Given the description of an element on the screen output the (x, y) to click on. 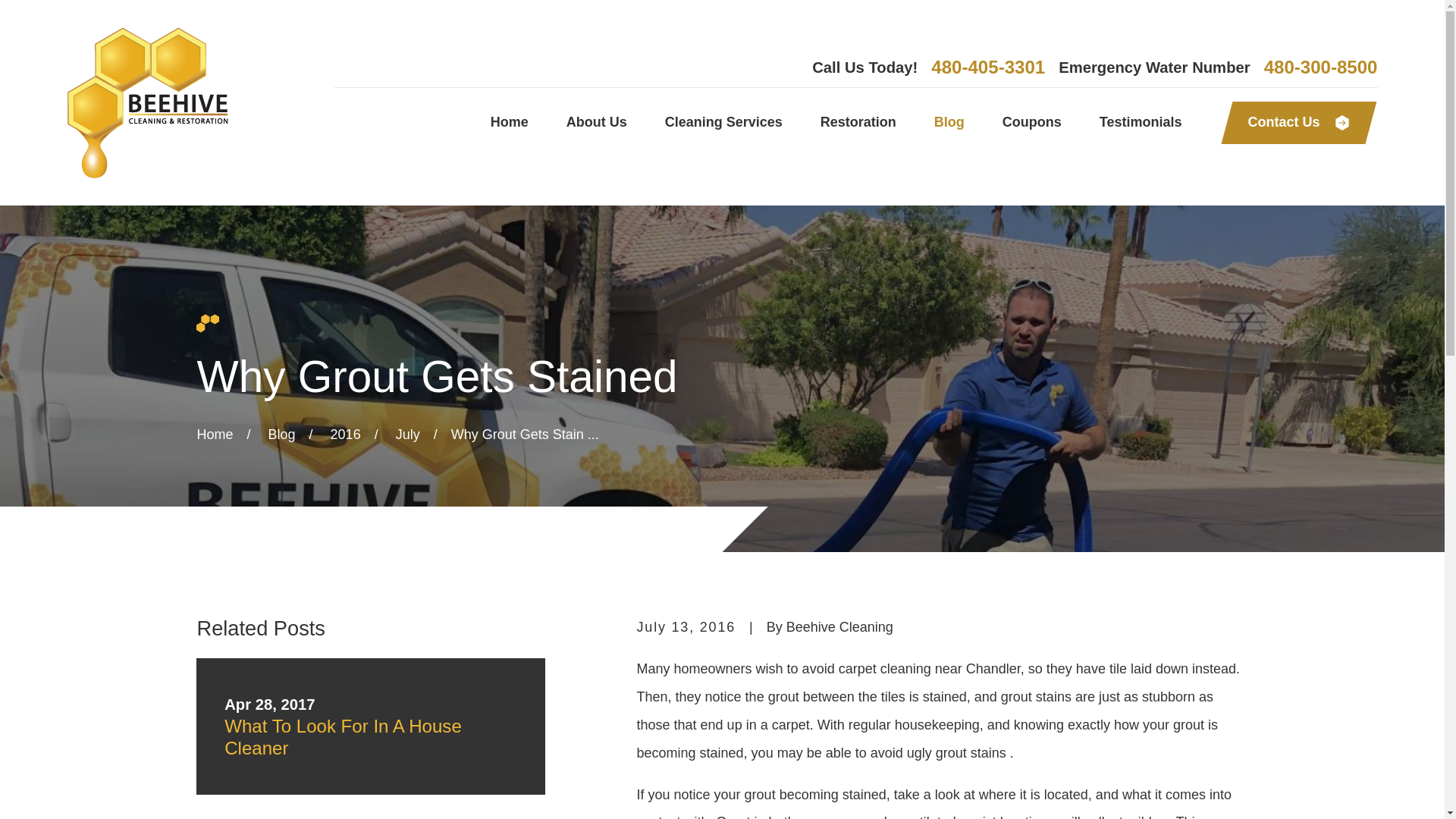
About Us (596, 122)
Cleaning Services (724, 122)
480-405-3301 (988, 67)
Restoration (858, 122)
Home (509, 122)
480-300-8500 (1320, 67)
Home (146, 102)
Go Home (214, 434)
